Given the description of an element on the screen output the (x, y) to click on. 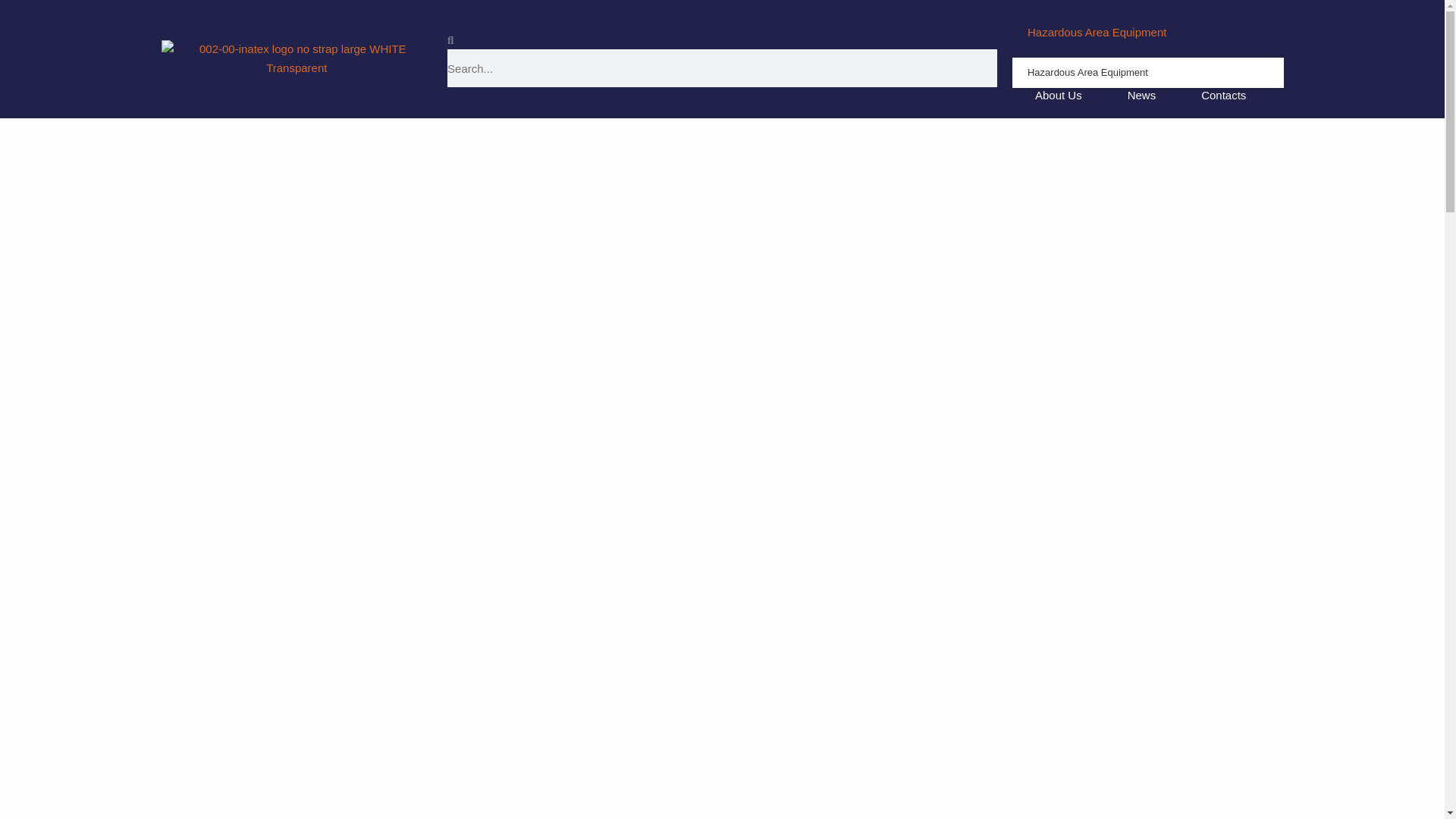
002-00-inatex logo no strap large WHITE Transparent (296, 58)
Hazardous Area Equipment (1095, 32)
